Given the description of an element on the screen output the (x, y) to click on. 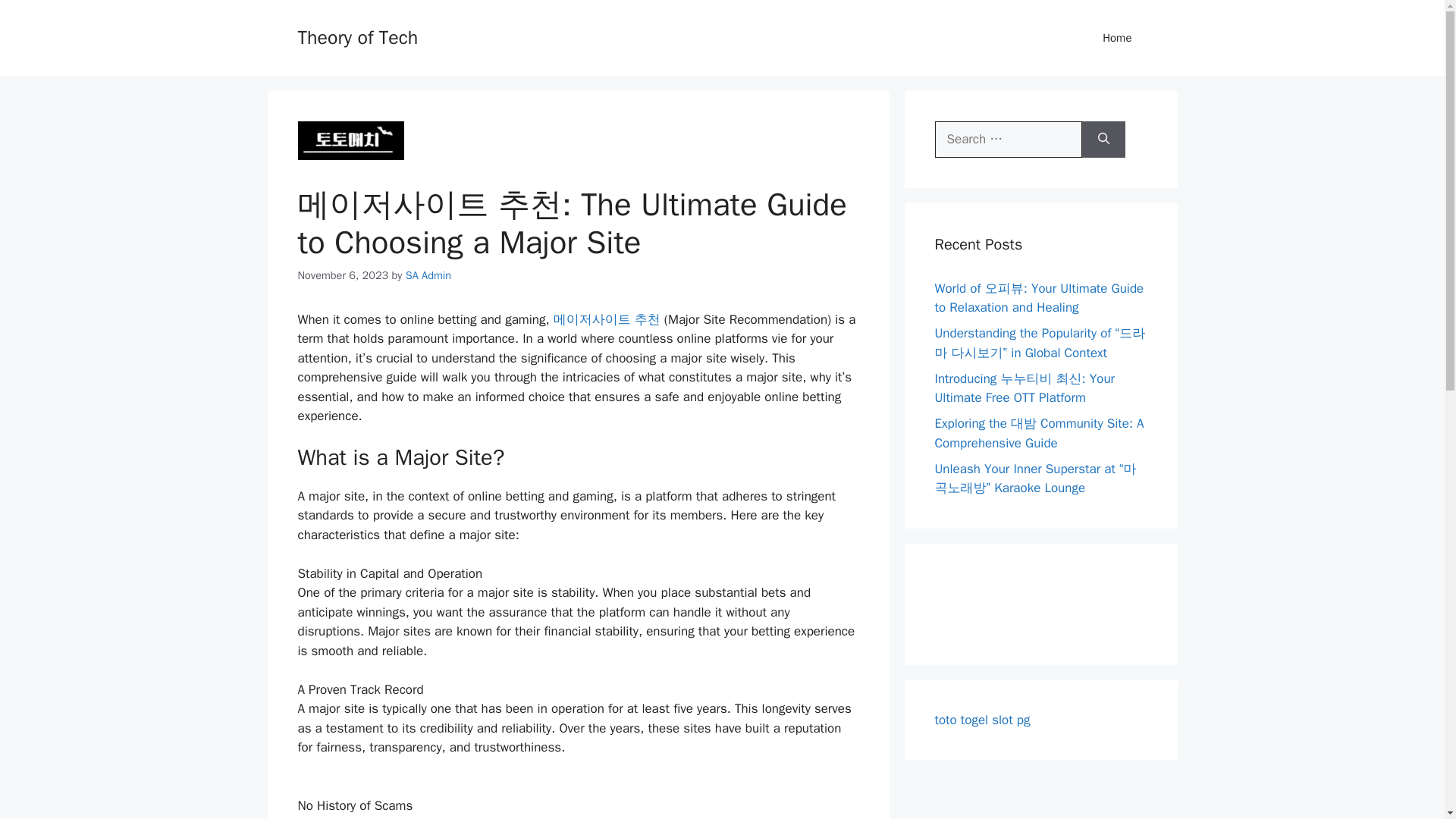
Home (1117, 37)
View all posts by SA Admin (428, 274)
Search for: (1007, 139)
slot pg (1010, 719)
Theory of Tech (357, 37)
toto togel (961, 719)
SA Admin (428, 274)
